Given the description of an element on the screen output the (x, y) to click on. 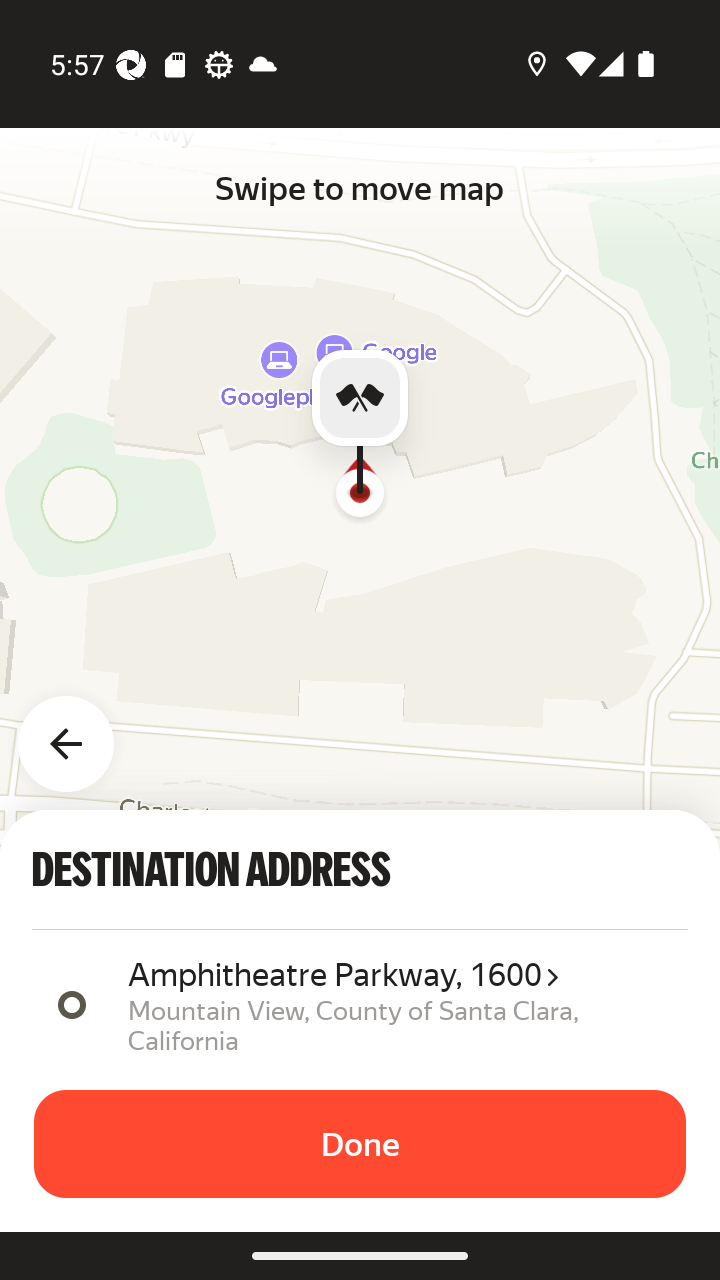
Back (78, 732)
Done (359, 1144)
